Given the description of an element on the screen output the (x, y) to click on. 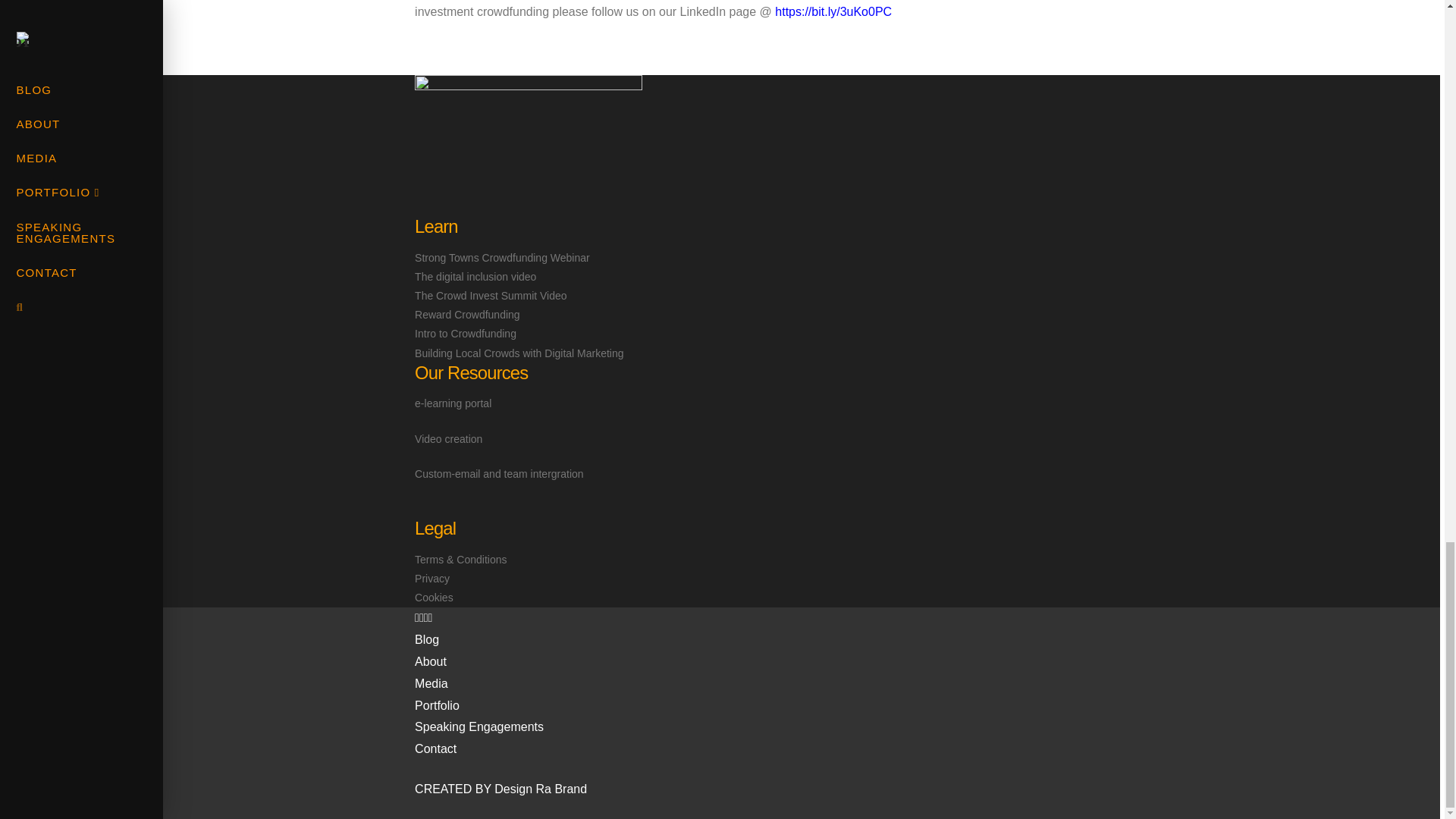
design Ra (540, 788)
Intro to Crowdfunding (465, 333)
The digital inclusion video (474, 276)
The Crowd Invest Summit Video (490, 295)
Building Local Crowds with Digital Marketing (518, 353)
Strong Towns Crowdfunding Webinar (501, 257)
e-learning portal (453, 403)
Contact (801, 749)
Reward Crowdfunding (466, 314)
